Given the description of an element on the screen output the (x, y) to click on. 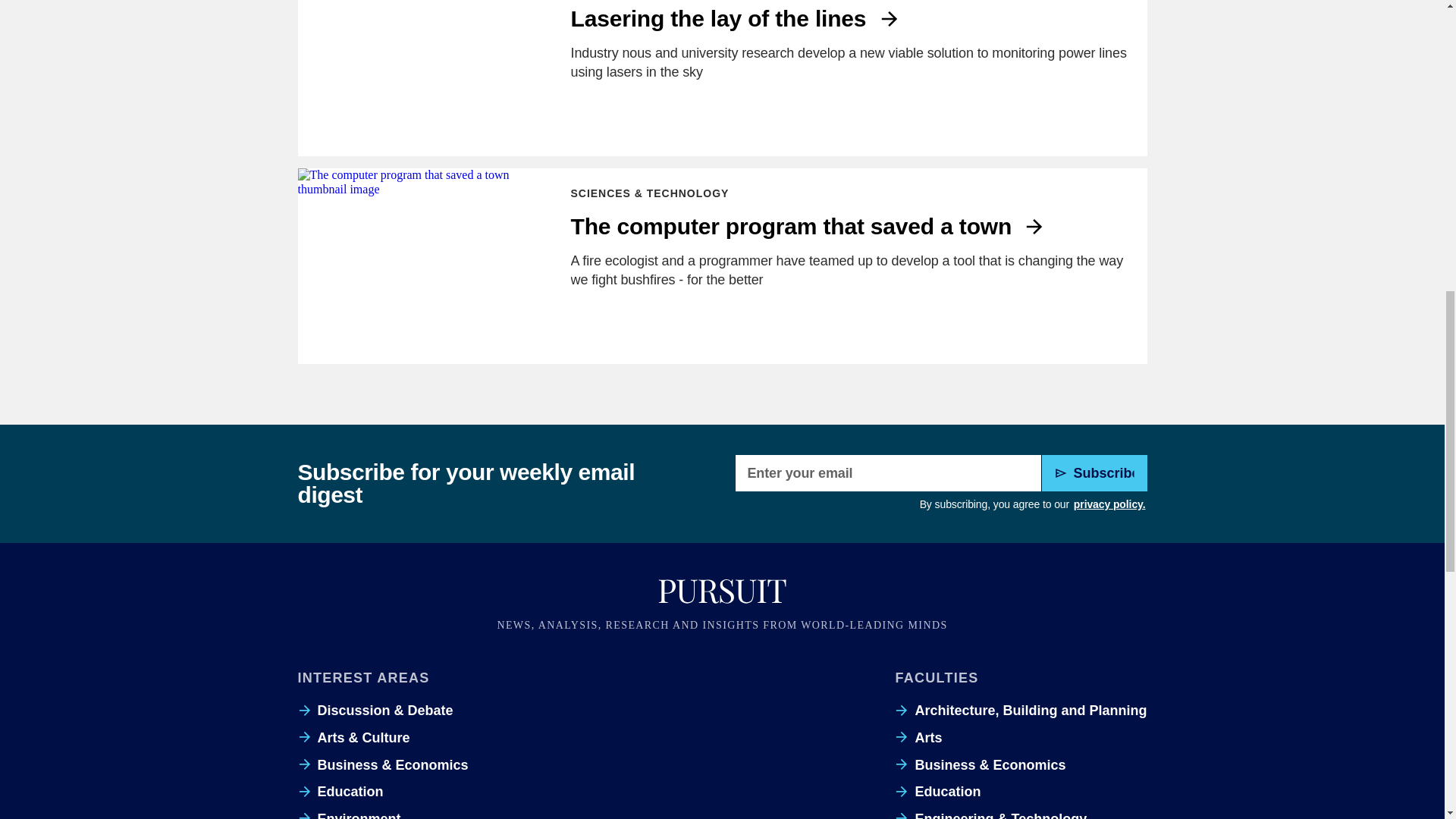
Environment (348, 814)
Arts (918, 737)
Architecture, Building and Planning (1021, 710)
privacy policy. (1109, 504)
Education (339, 791)
